Given the description of an element on the screen output the (x, y) to click on. 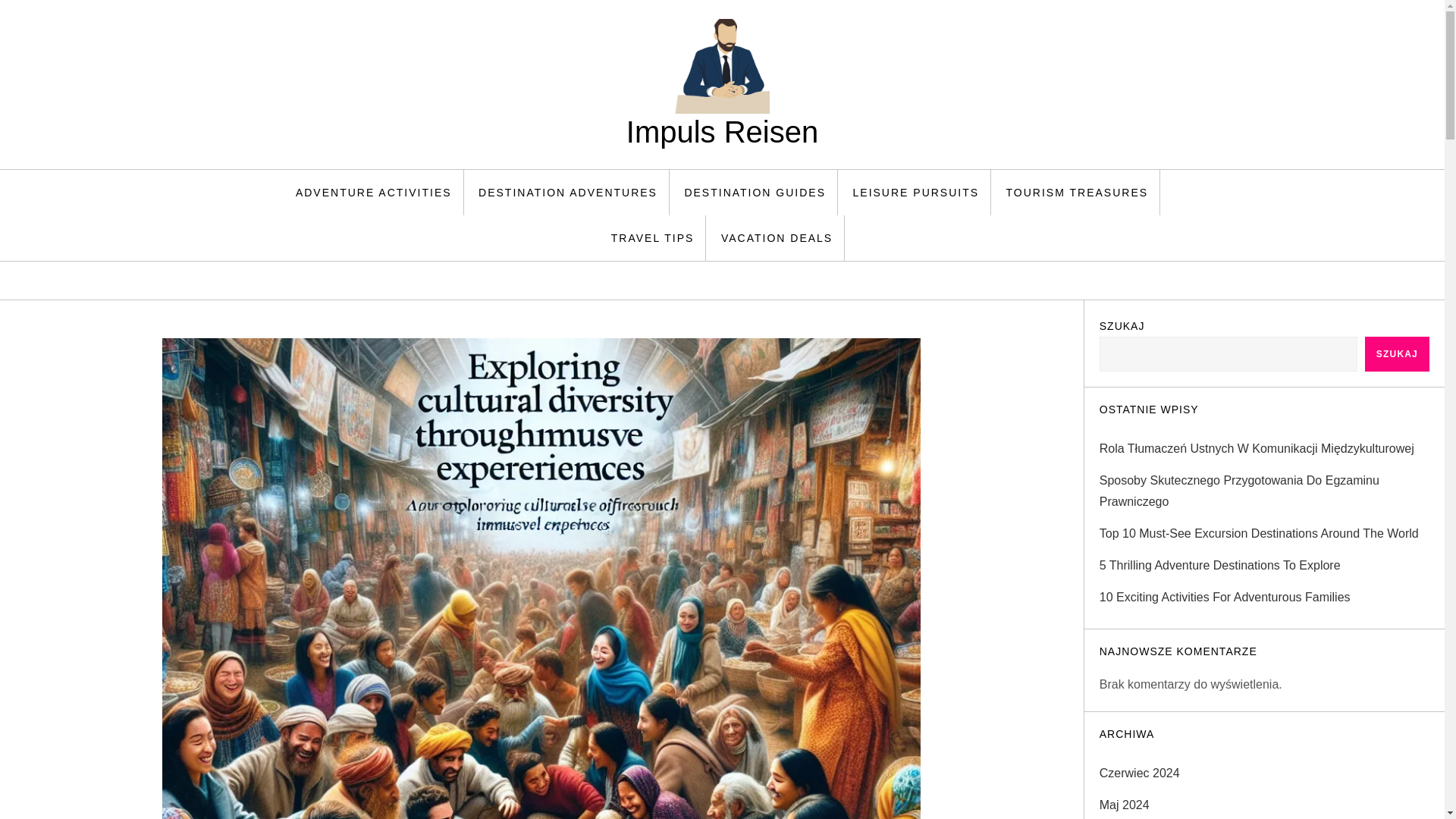
TOURISM TREASURES (1077, 192)
ADVENTURE ACTIVITIES (373, 192)
TRAVEL TIPS (652, 238)
LEISURE PURSUITS (916, 192)
DESTINATION GUIDES (755, 192)
DESTINATION ADVENTURES (568, 192)
Impuls Reisen (722, 131)
